Given the description of an element on the screen output the (x, y) to click on. 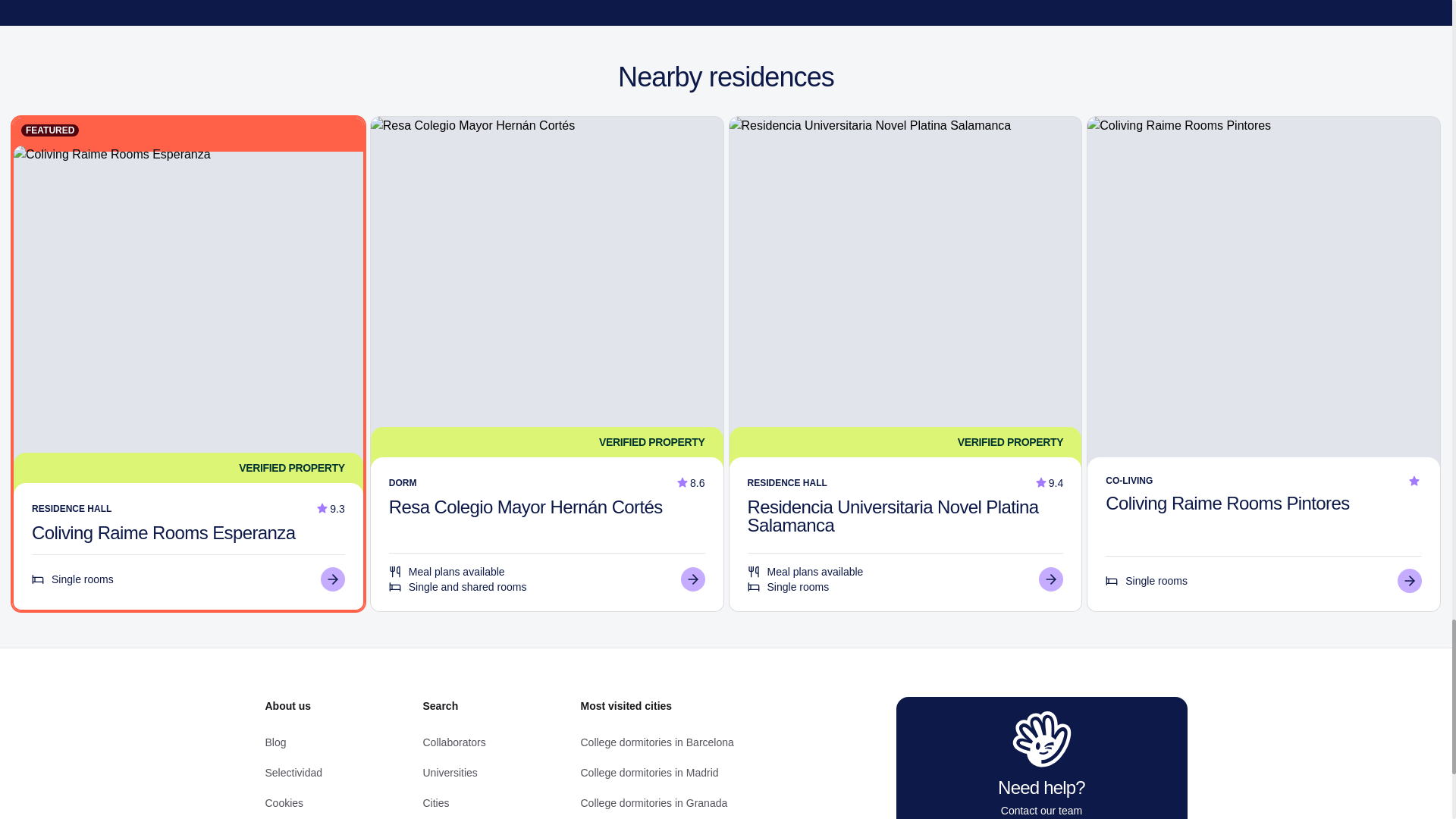
Selectividad (293, 772)
Coliving Raime Rooms Pintores (1227, 503)
Blog (275, 742)
Residencia Universitaria Novel Platina Salamanca (893, 515)
Cookies (284, 802)
Coliving Raime Rooms Esperanza (163, 532)
